Given the description of an element on the screen output the (x, y) to click on. 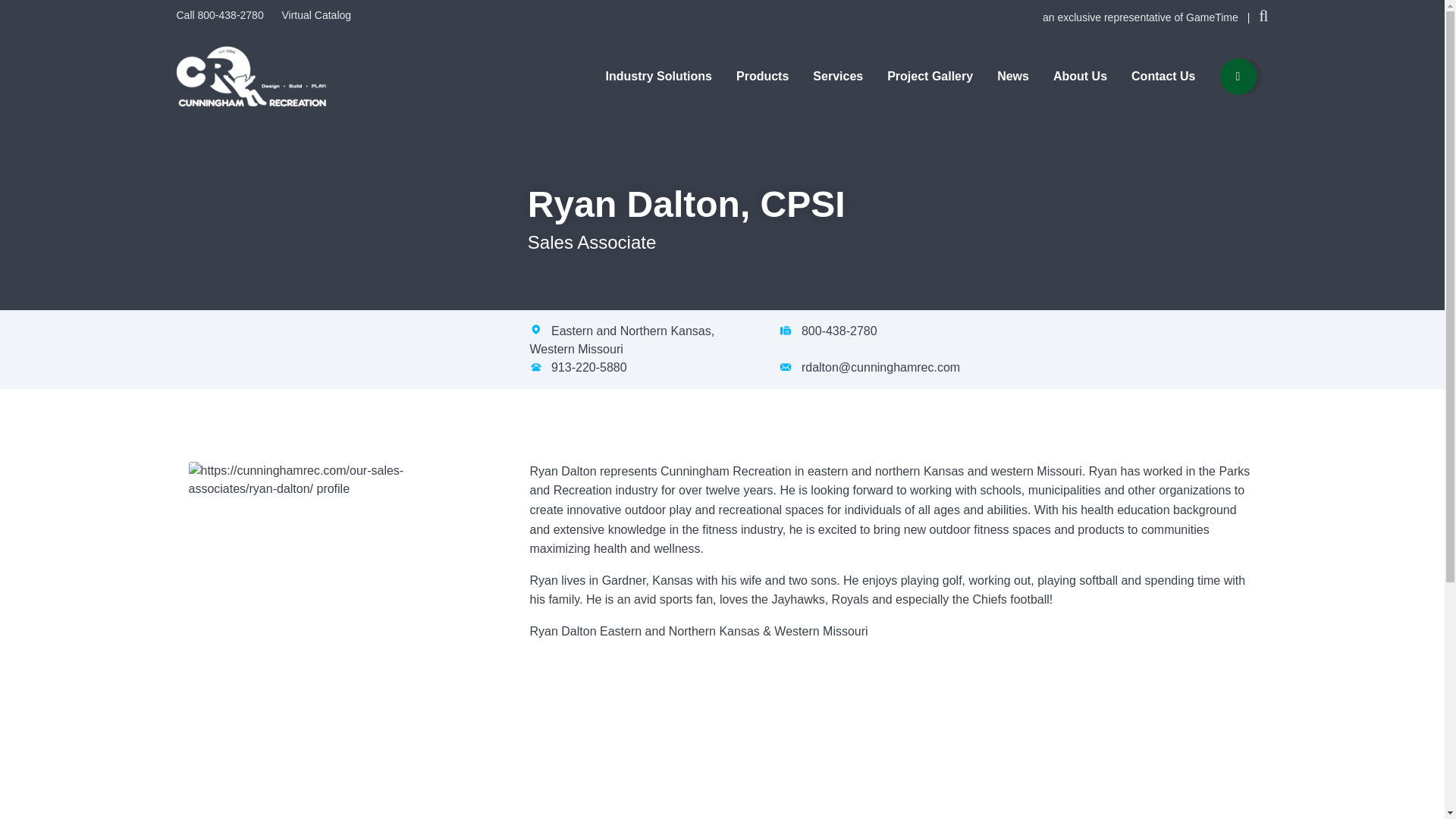
Call us at 8004382780 (221, 15)
Virtual Catalog (315, 15)
About Us (1079, 76)
Call 800-438-2780 (221, 15)
Industry Solutions (658, 76)
Home (250, 74)
Services (837, 76)
Products (762, 76)
News (1013, 76)
Industry Solutions (658, 76)
Products (762, 76)
an exclusive representative of GameTime (1141, 17)
Project Gallery (929, 76)
Contact Us (1163, 76)
Virtual Catalog (315, 15)
